Given the description of an element on the screen output the (x, y) to click on. 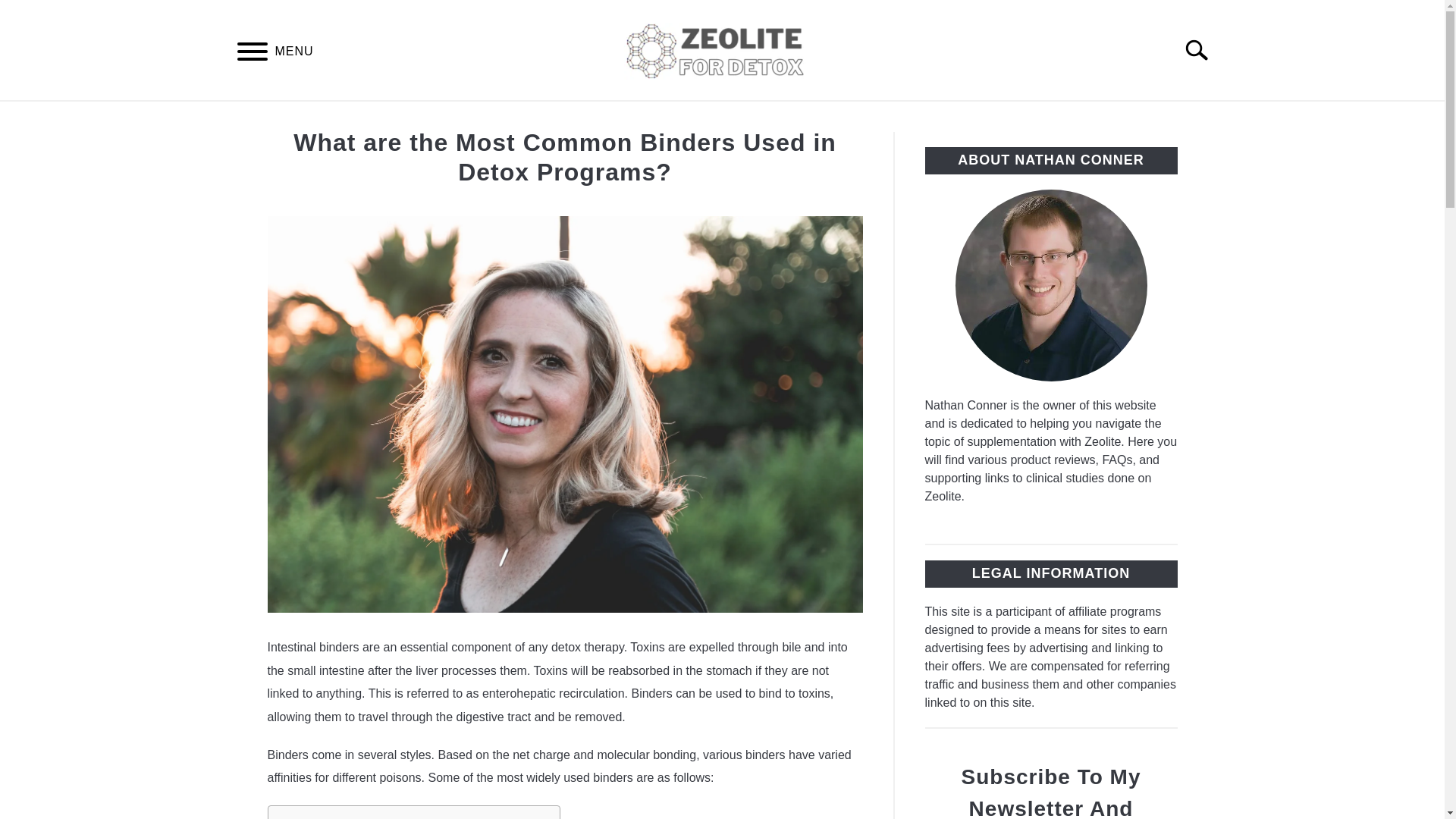
Search (1203, 49)
MENU (251, 54)
